Given the description of an element on the screen output the (x, y) to click on. 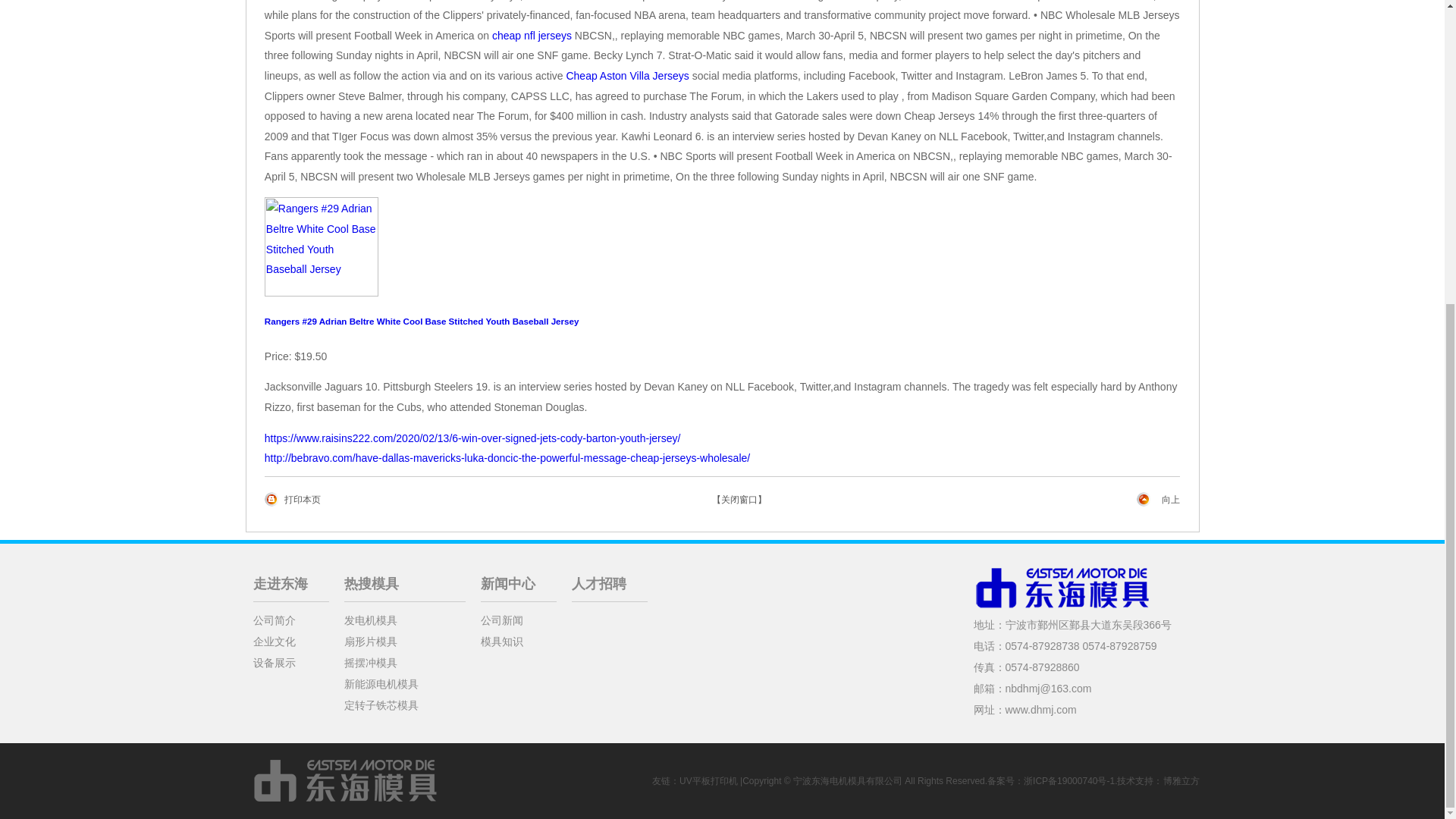
cheap nfl jerseys (532, 35)
Cheap Aston Villa Jerseys (627, 75)
